Given the description of an element on the screen output the (x, y) to click on. 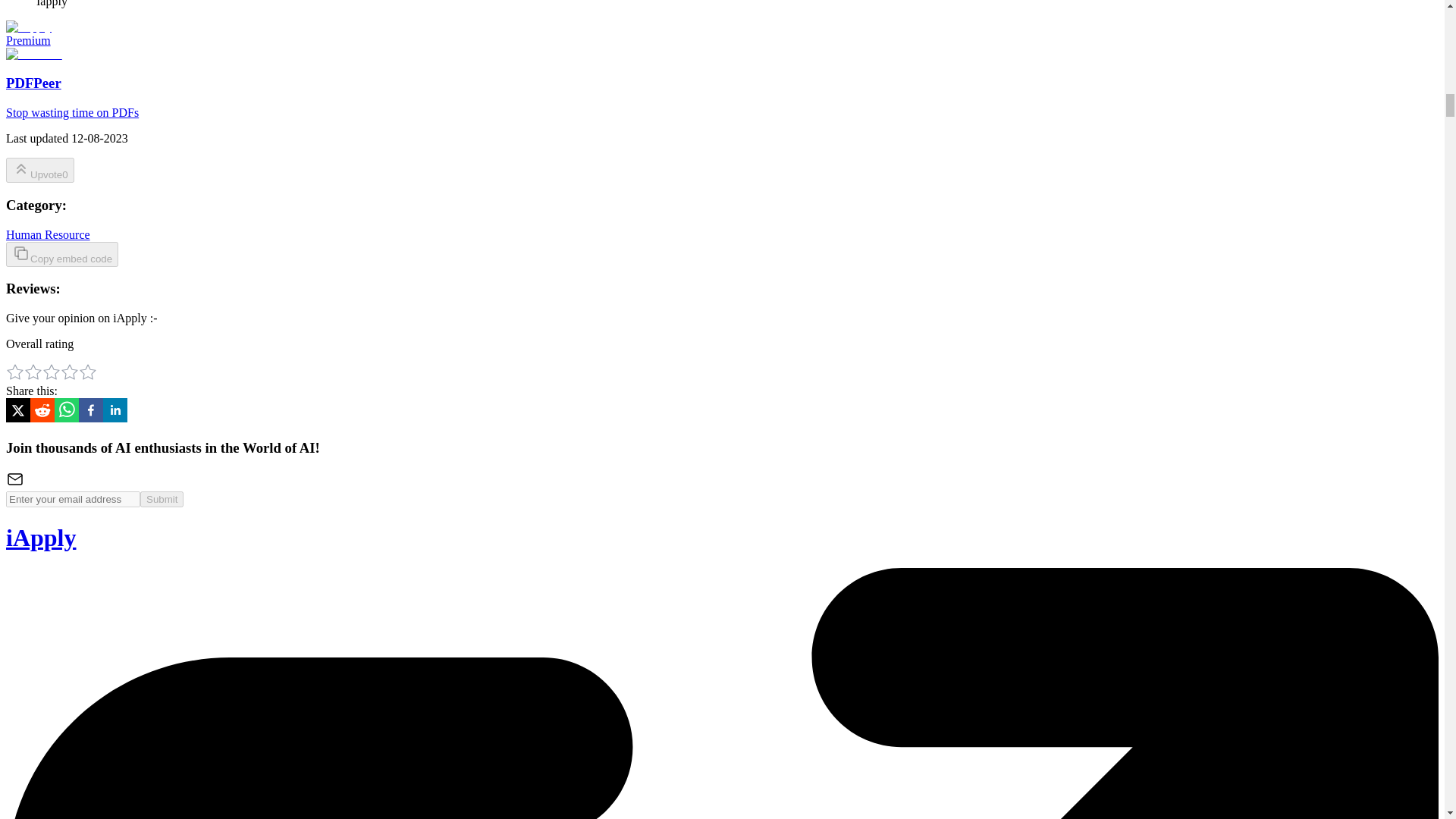
Upvote0 (39, 170)
Copy embed code (61, 253)
Submit (161, 498)
